Given the description of an element on the screen output the (x, y) to click on. 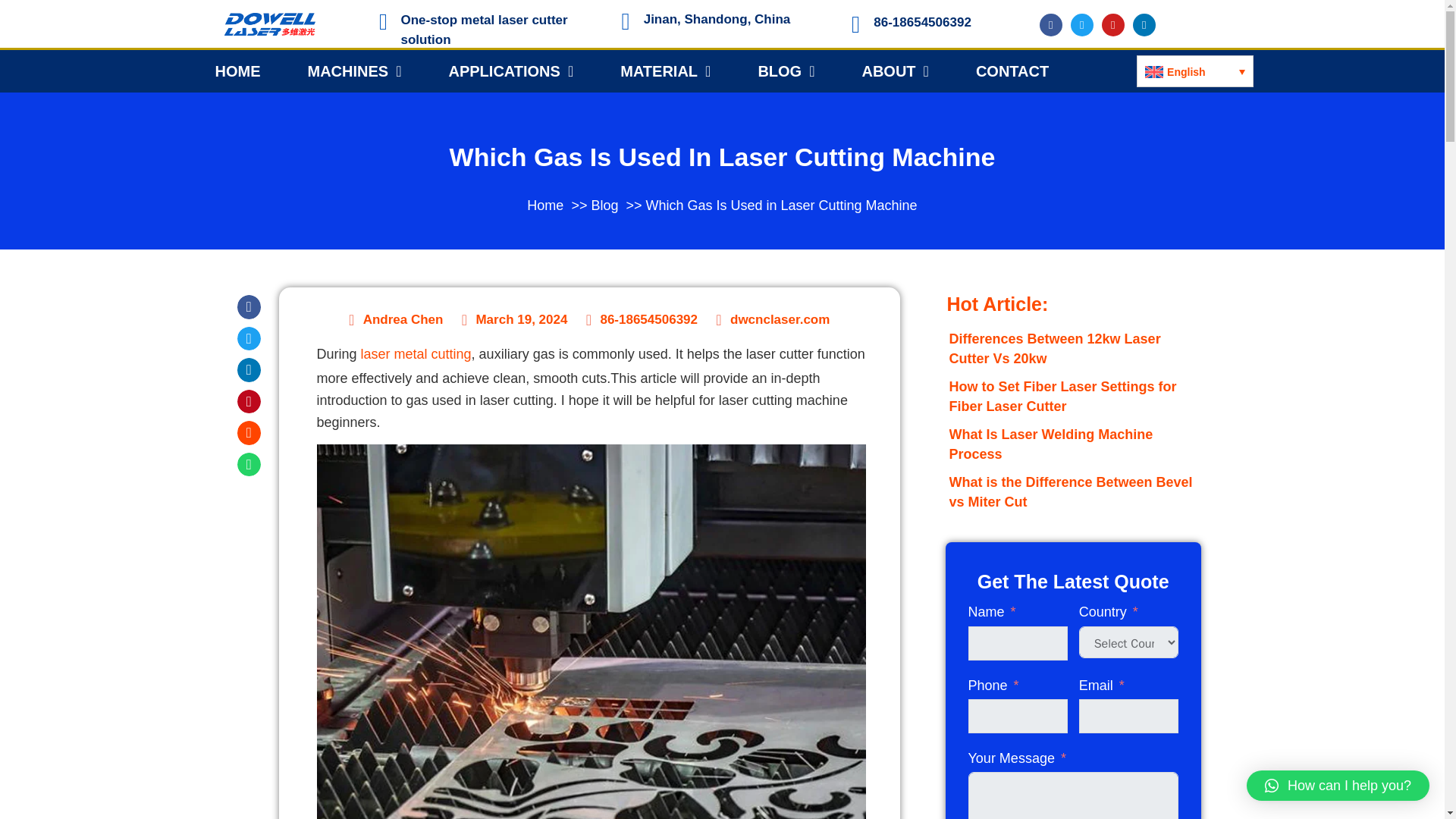
MACHINES (354, 70)
APPLICATIONS (510, 70)
HOME (236, 70)
